Given the description of an element on the screen output the (x, y) to click on. 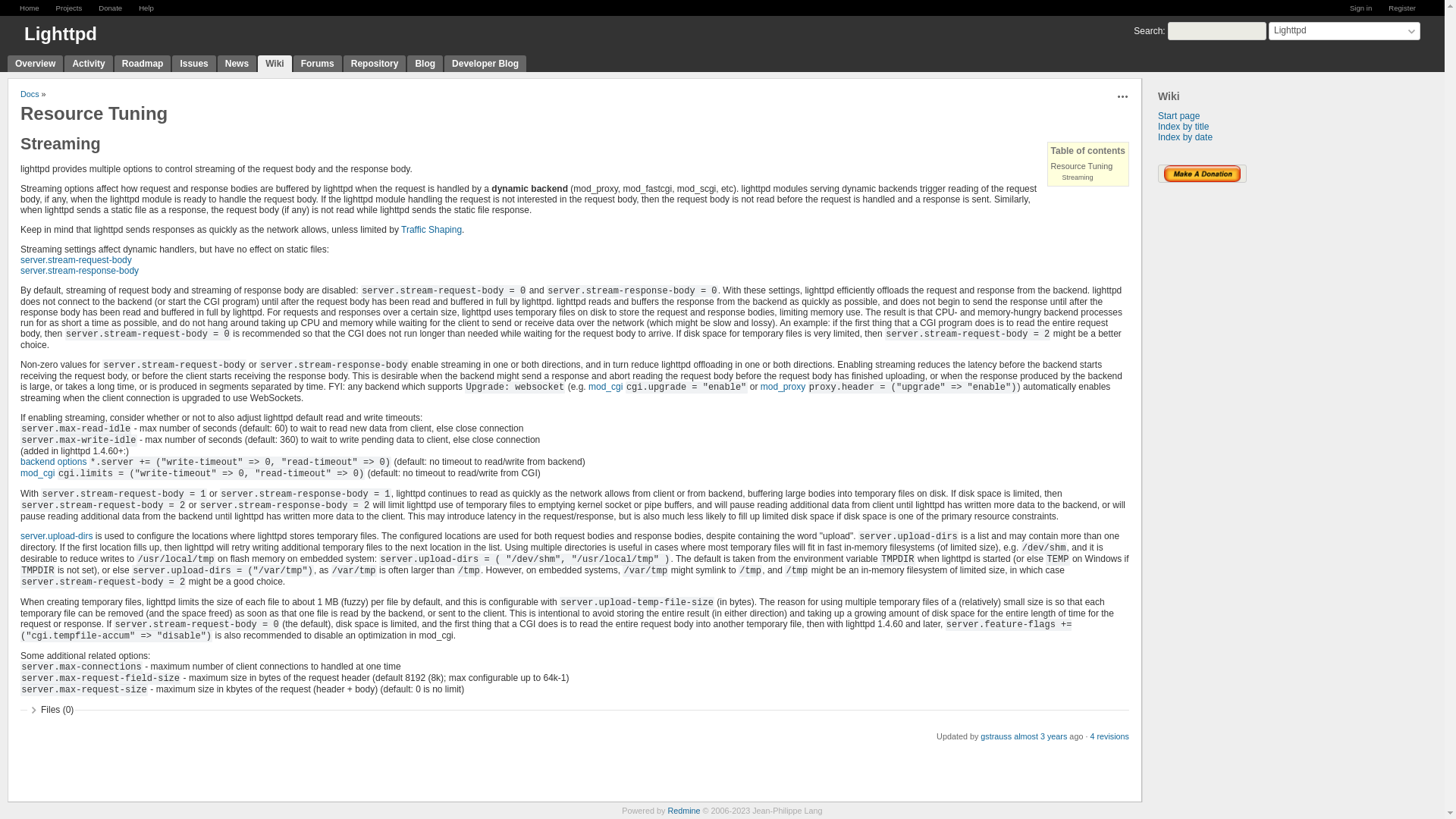
Sign in (1360, 7)
server.stream-request-body (76, 259)
Activity (88, 63)
Roadmap (143, 63)
server.upload-dirs (56, 535)
2021-09-08 08:36 (1040, 736)
Wiki (274, 63)
Issues (193, 63)
Repository (374, 63)
Blog (424, 63)
